Given the description of an element on the screen output the (x, y) to click on. 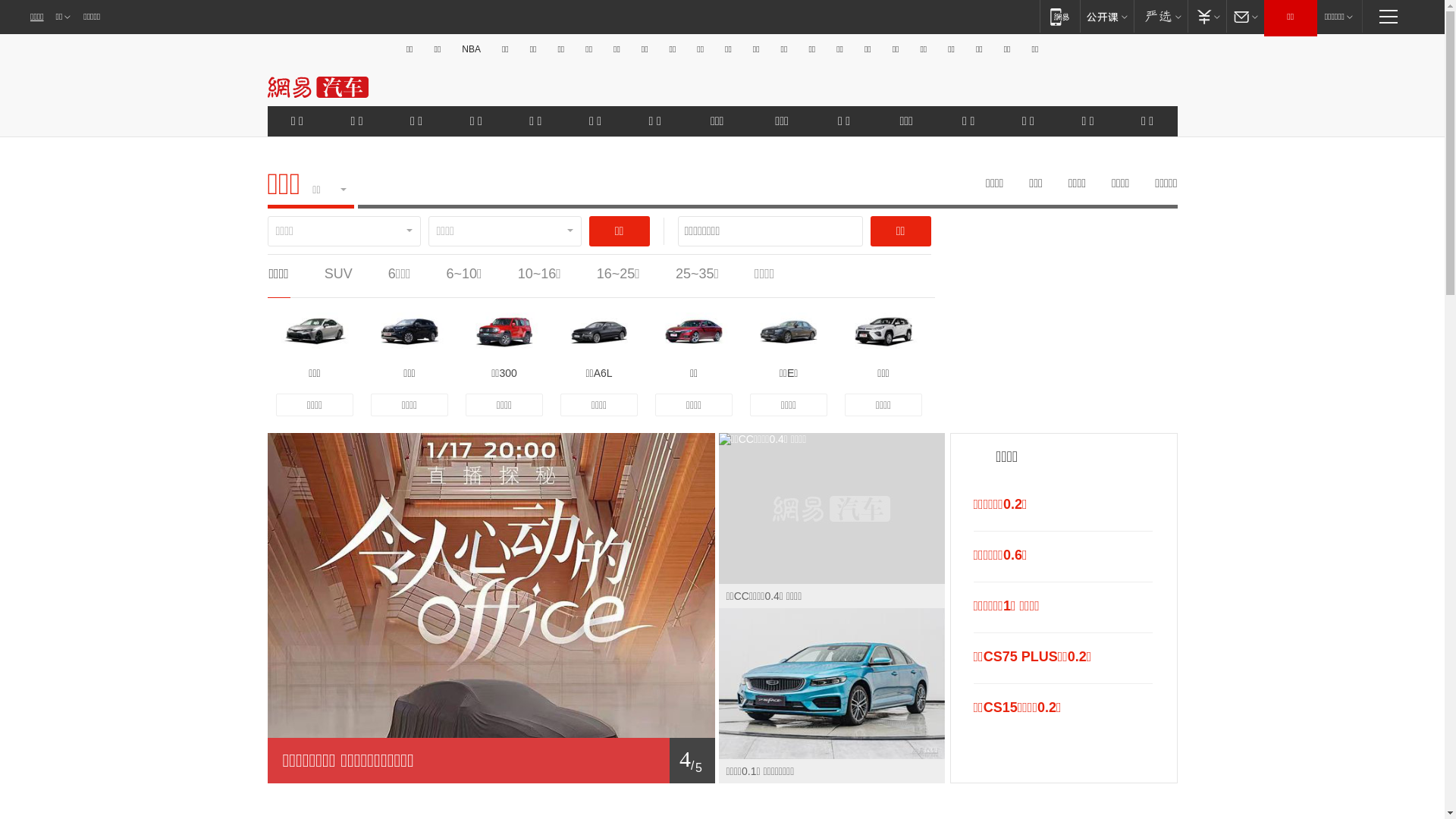
SUV Element type: text (338, 273)
NBA Element type: text (471, 48)
1/ 5 Element type: text (490, 760)
